Given the description of an element on the screen output the (x, y) to click on. 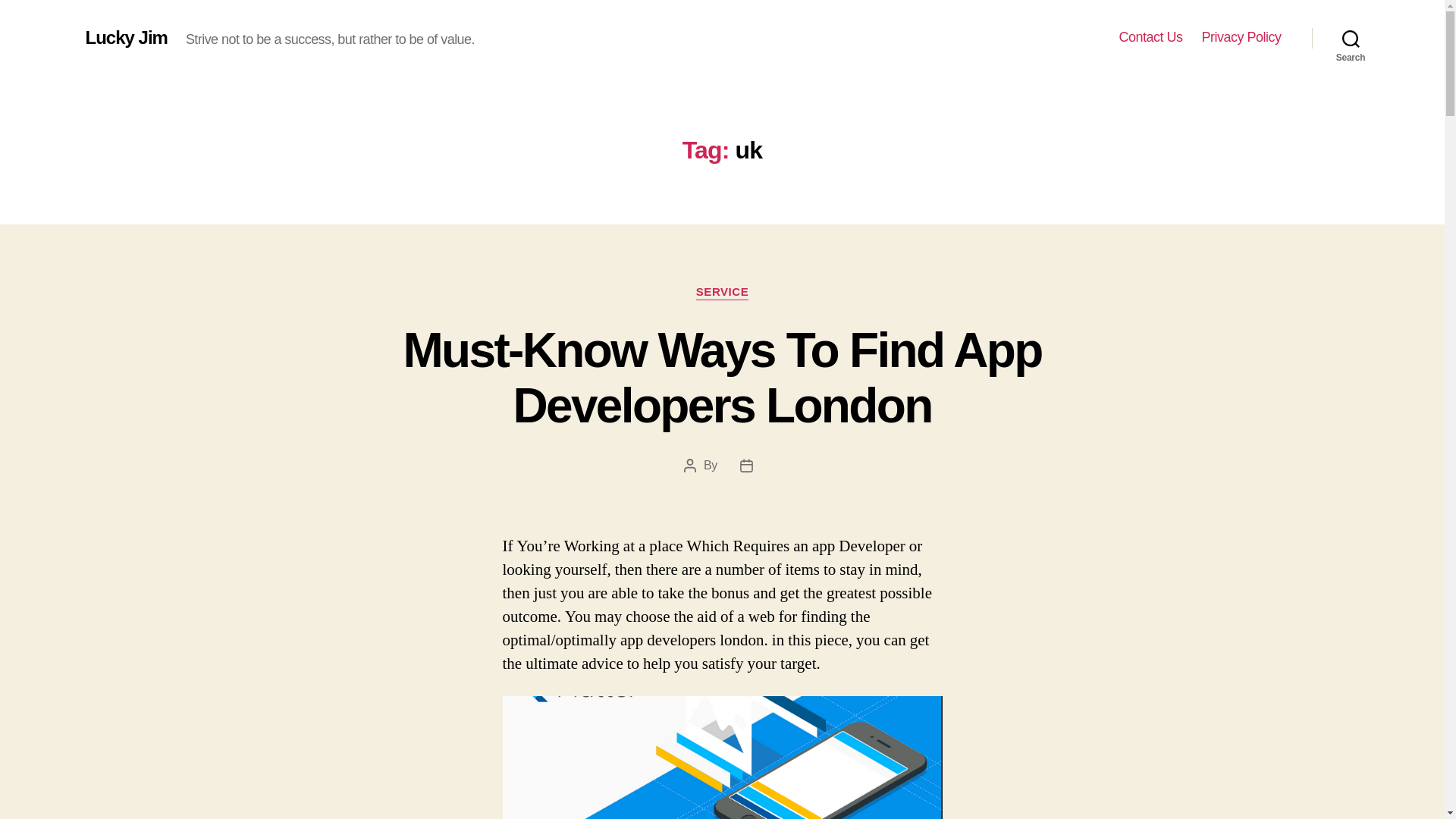
Must-Know Ways To Find App Developers London (722, 377)
Search (1350, 37)
SERVICE (721, 292)
Contact Us (1150, 37)
Lucky Jim (125, 37)
Privacy Policy (1241, 37)
